Given the description of an element on the screen output the (x, y) to click on. 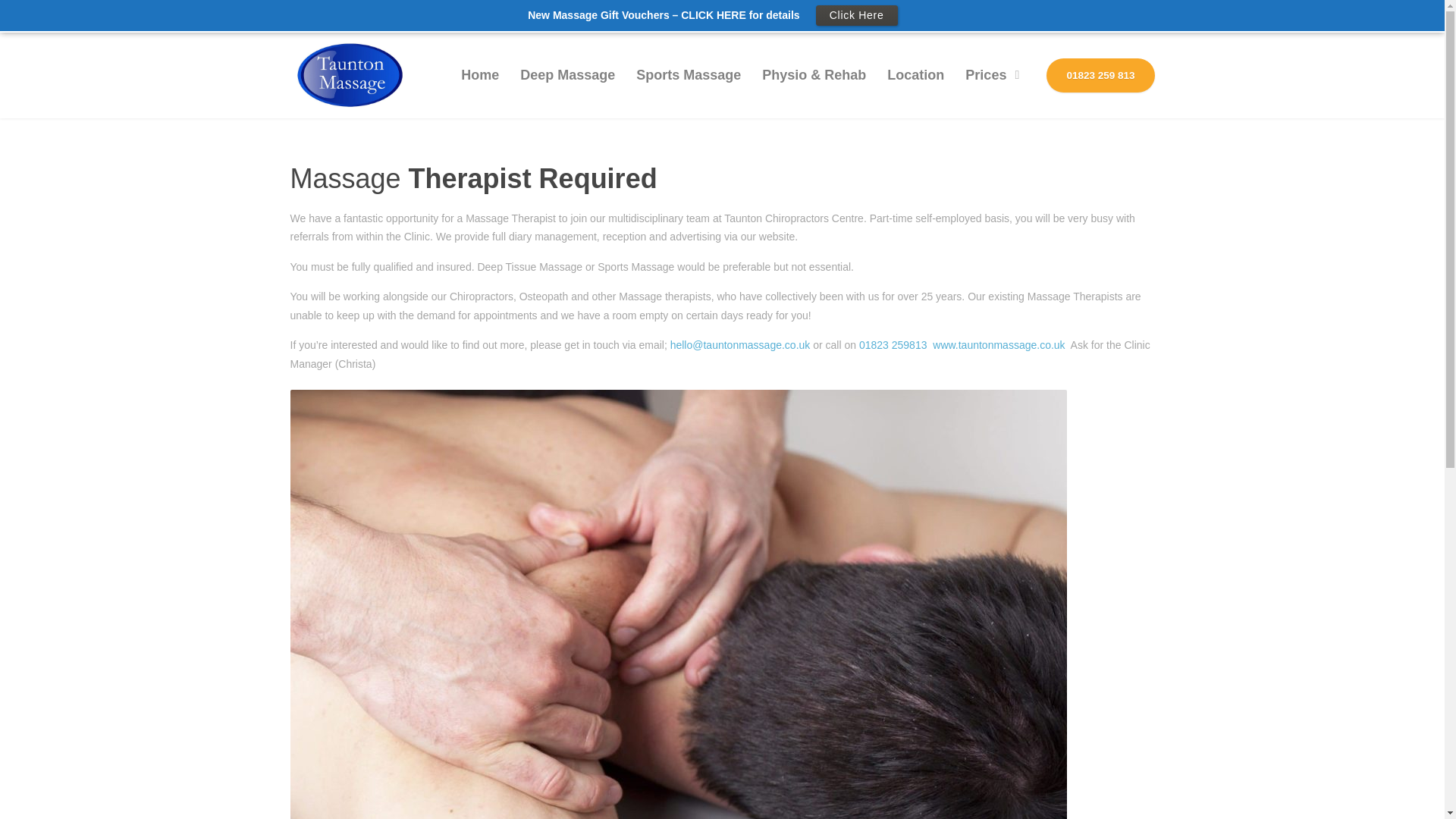
www.tauntonmassage.co.uk (998, 313)
Sports Massage (688, 43)
Location (915, 43)
Deep Massage (567, 43)
01823 259813 (893, 313)
01823 259 813 (1100, 42)
Taunton Massage (349, 42)
